Given the description of an element on the screen output the (x, y) to click on. 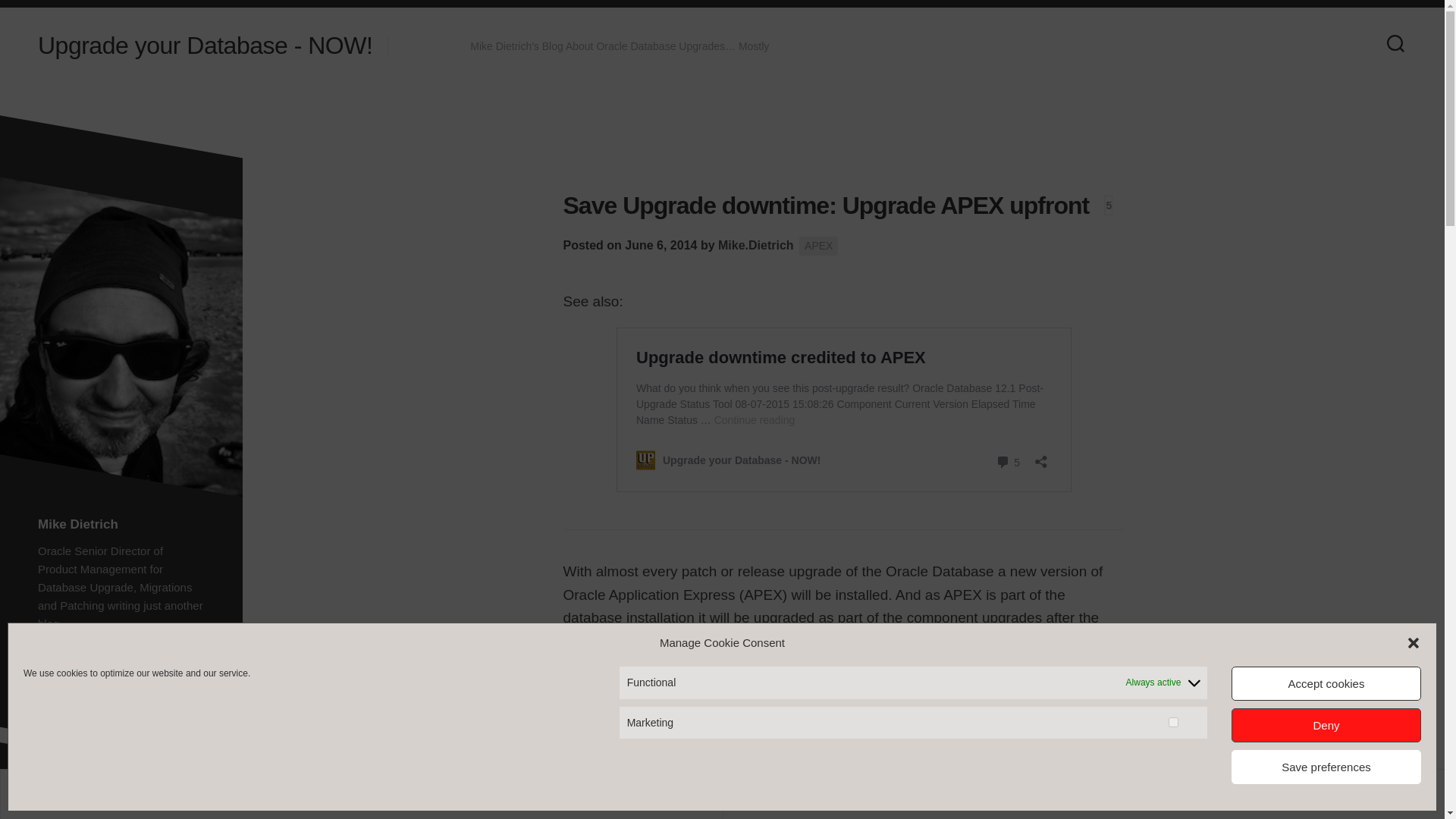
Slides (807, 83)
Posts by Mike.Dietrich (755, 245)
Twitter (407, 45)
LinkedIn2 (428, 45)
Save preferences (1326, 766)
Upgrade your Database - NOW! (204, 44)
RSS (447, 45)
Deny (1326, 725)
To search type and hit enter (121, 814)
Hands-On Lab (882, 83)
Blog (762, 83)
To search type and hit enter (121, 814)
Accept cookies (1326, 683)
1 (1173, 722)
